Given the description of an element on the screen output the (x, y) to click on. 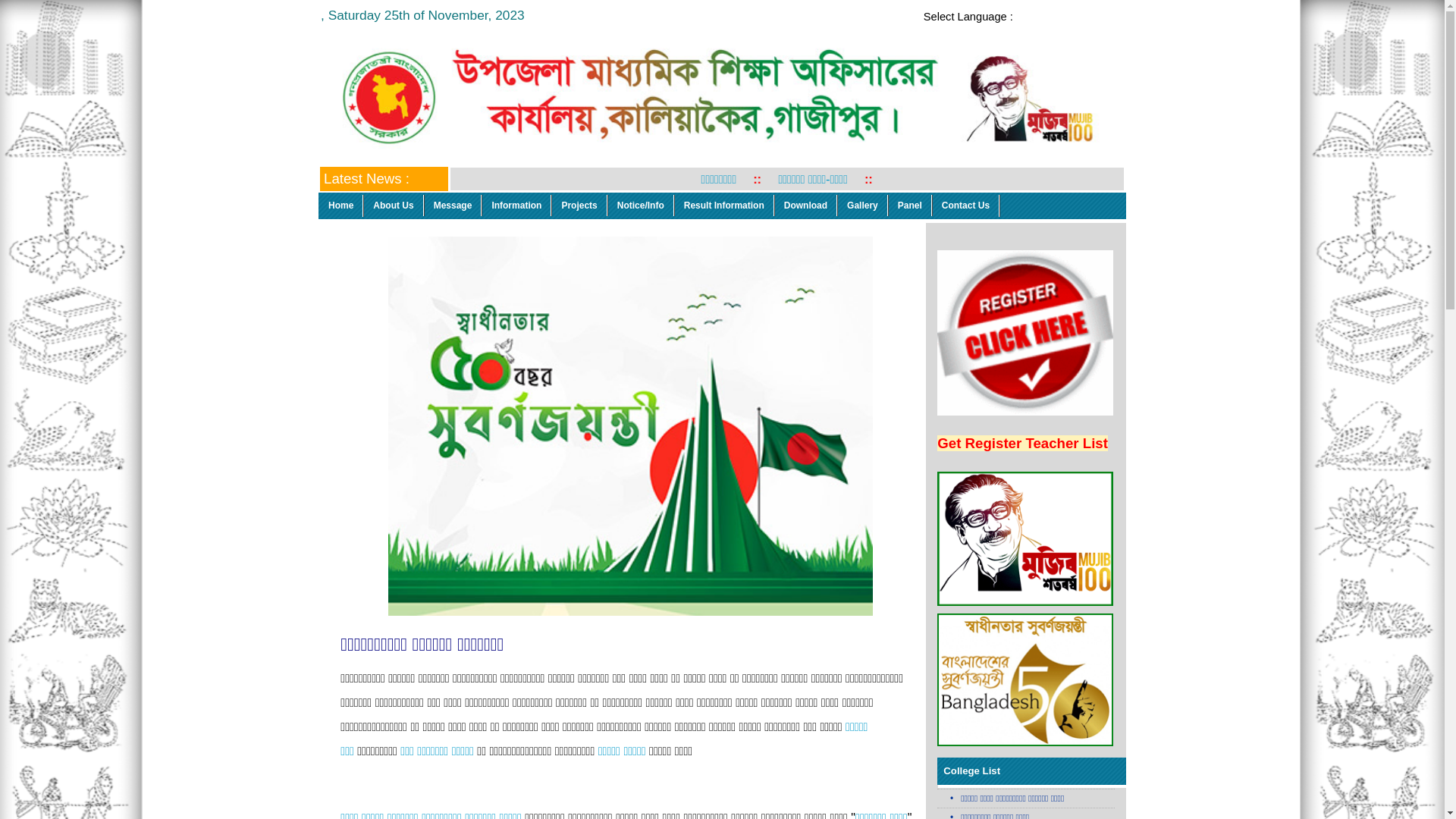
Gallery Element type: text (862, 205)
Message Element type: text (453, 205)
About Us Element type: text (393, 205)
Information Element type: text (516, 205)
Get Register Teacher List Element type: text (1022, 443)
Contact Us Element type: text (965, 205)
Notice/Info Element type: text (641, 205)
Panel Element type: text (909, 205)
Projects Element type: text (579, 205)
Download Element type: text (806, 205)
Result Information Element type: text (724, 205)
Home Element type: text (341, 205)
